Given the description of an element on the screen output the (x, y) to click on. 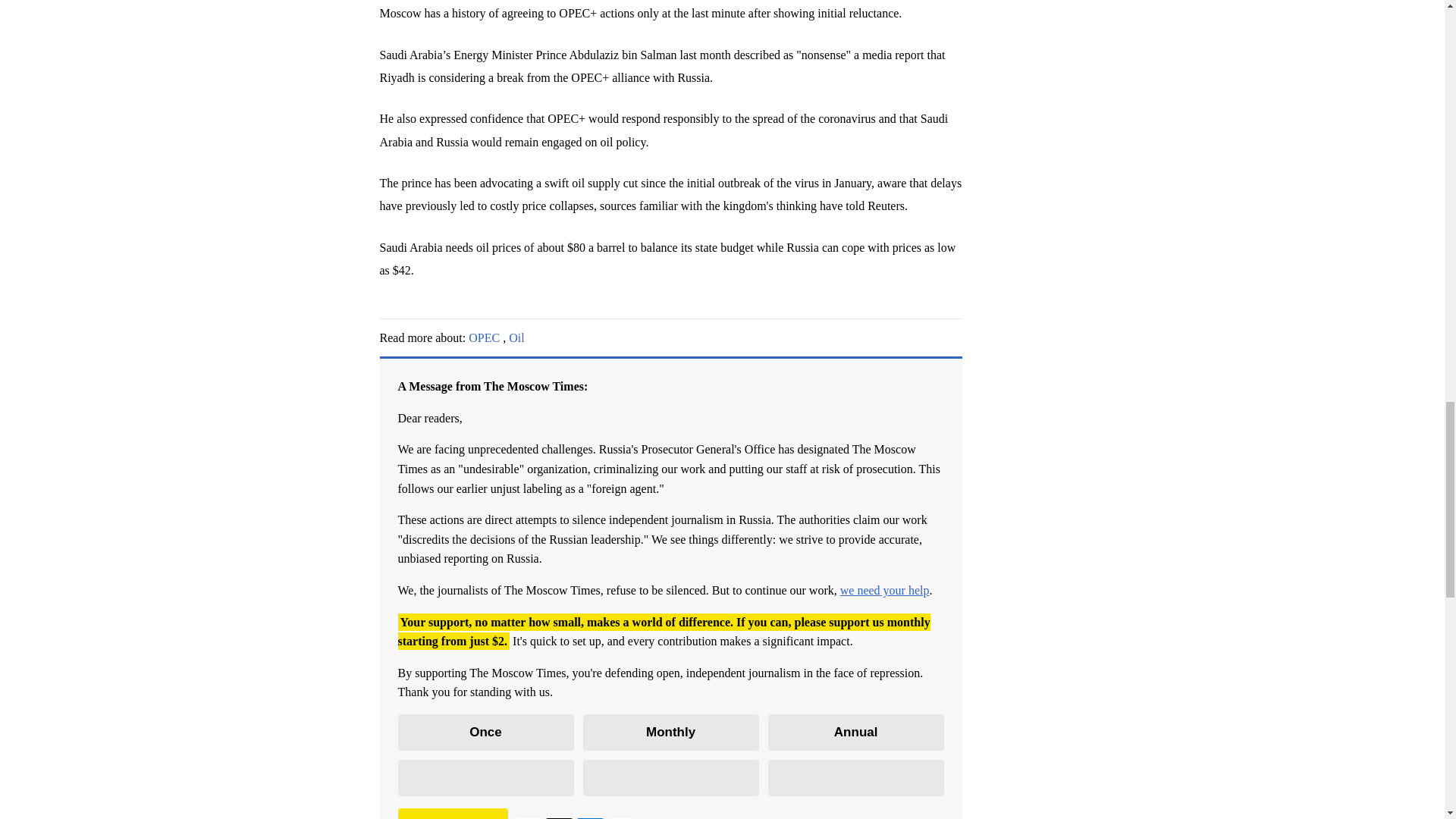
we need your help (885, 590)
Oil (516, 337)
OPEC (483, 337)
